Given the description of an element on the screen output the (x, y) to click on. 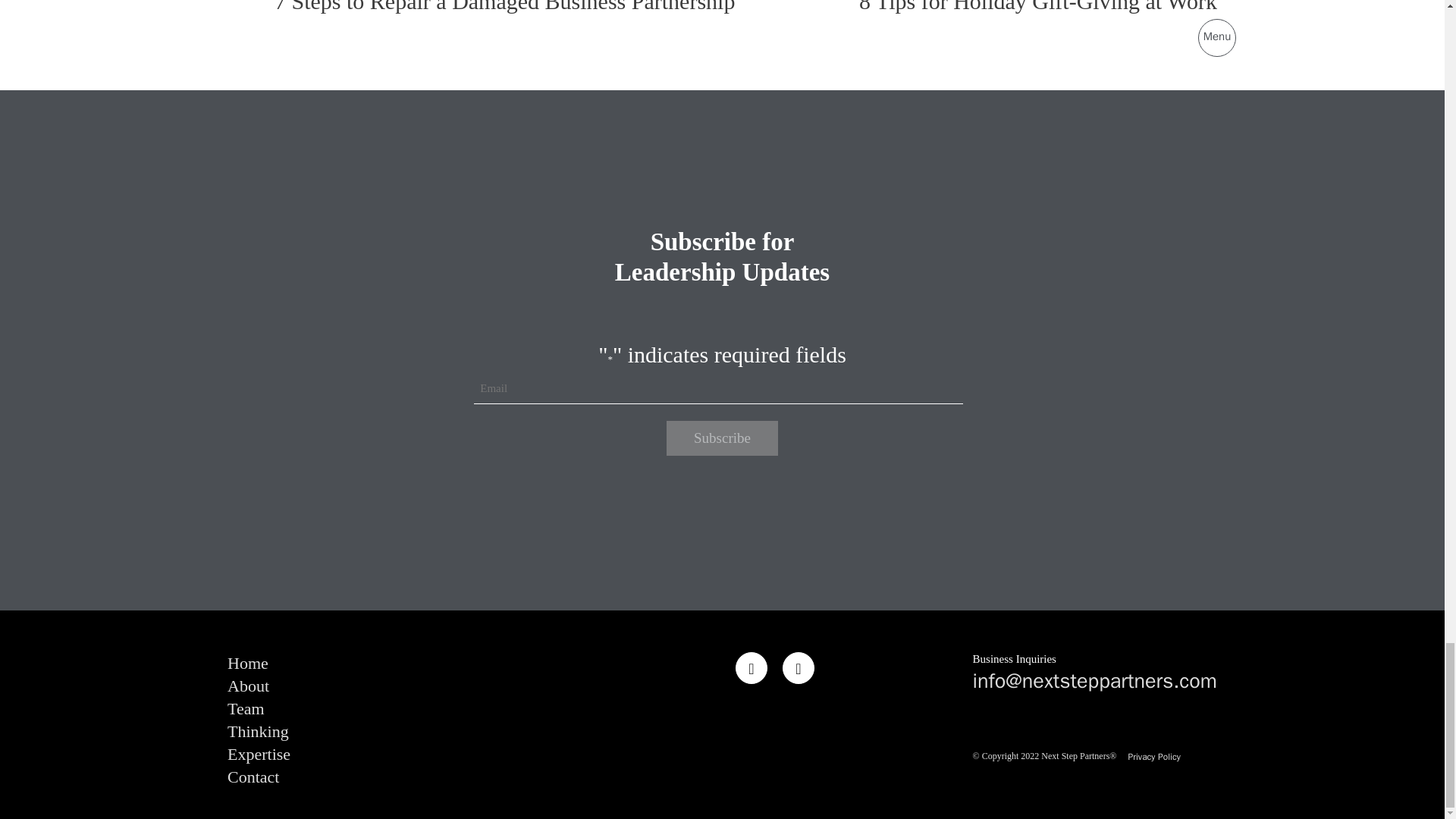
Contact (253, 776)
Subscribe (721, 437)
Subscribe (721, 437)
Privacy Policy (1152, 756)
About (248, 685)
Thinking (257, 731)
Home (247, 662)
Expertise (258, 753)
Team (245, 708)
